Given the description of an element on the screen output the (x, y) to click on. 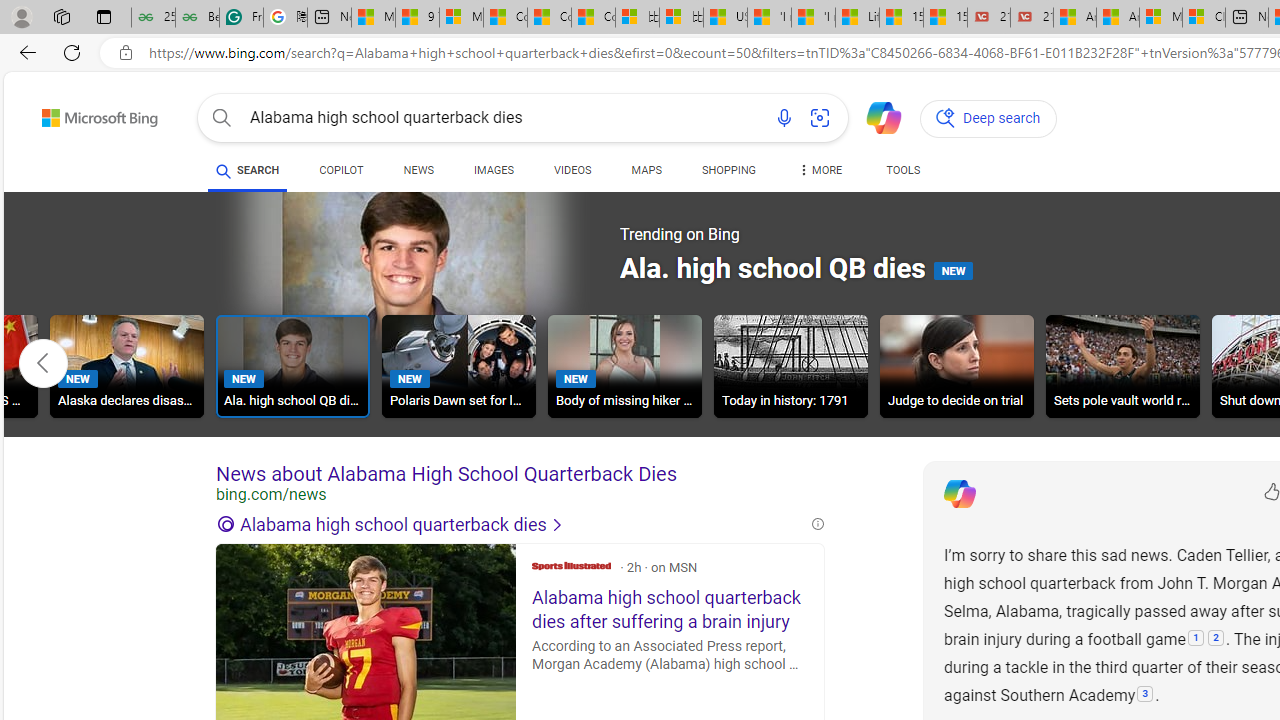
SHOPPING (728, 170)
Dropdown Menu (819, 170)
Back to Bing search (87, 113)
Search button (221, 117)
Sets pole vault world record (1122, 369)
TOOLS (903, 170)
COPILOT (341, 170)
1:  (1196, 639)
Search using voice (783, 117)
